Given the description of an element on the screen output the (x, y) to click on. 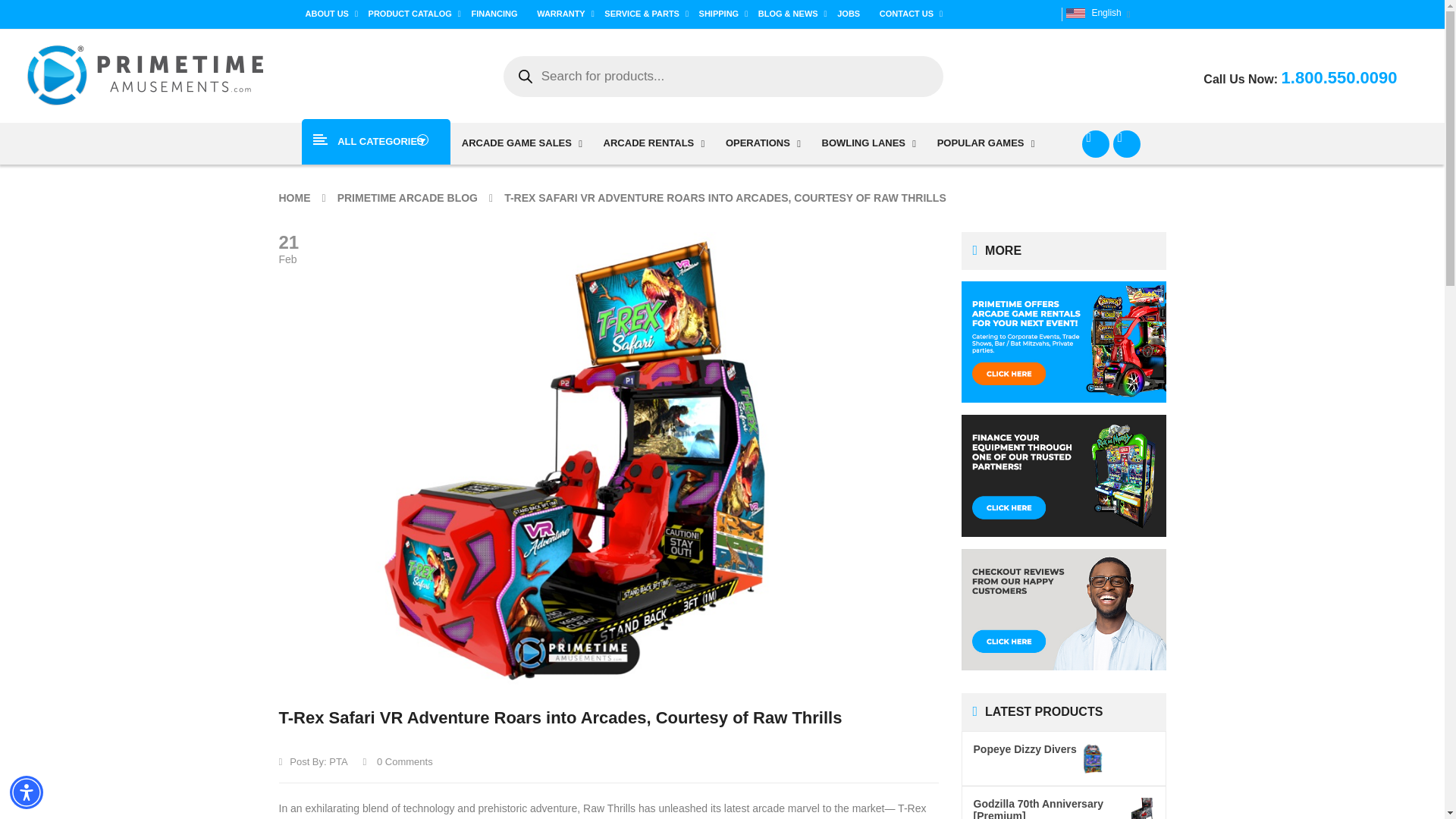
SHIPPING (723, 13)
CONTACT US (911, 13)
JOBS (852, 13)
Accessibility Menu (26, 792)
ABOUT US (331, 13)
Posts by PTA (338, 761)
PRODUCT CATALOG (414, 13)
FINANCING (498, 13)
WARRANTY (565, 13)
English (1074, 13)
